Given the description of an element on the screen output the (x, y) to click on. 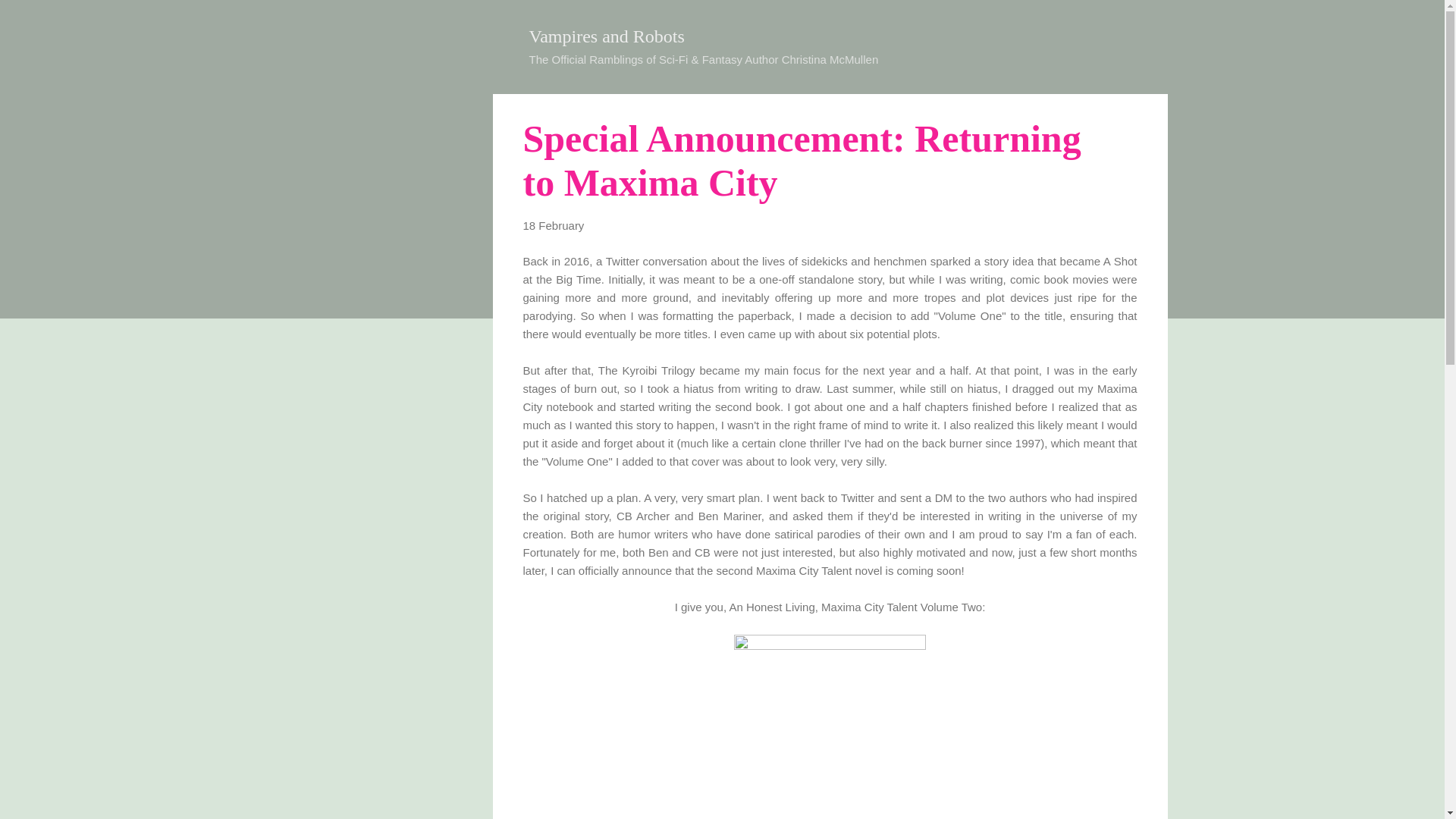
18 February (553, 225)
permanent link (553, 225)
Vampires and Robots (606, 35)
